Given the description of an element on the screen output the (x, y) to click on. 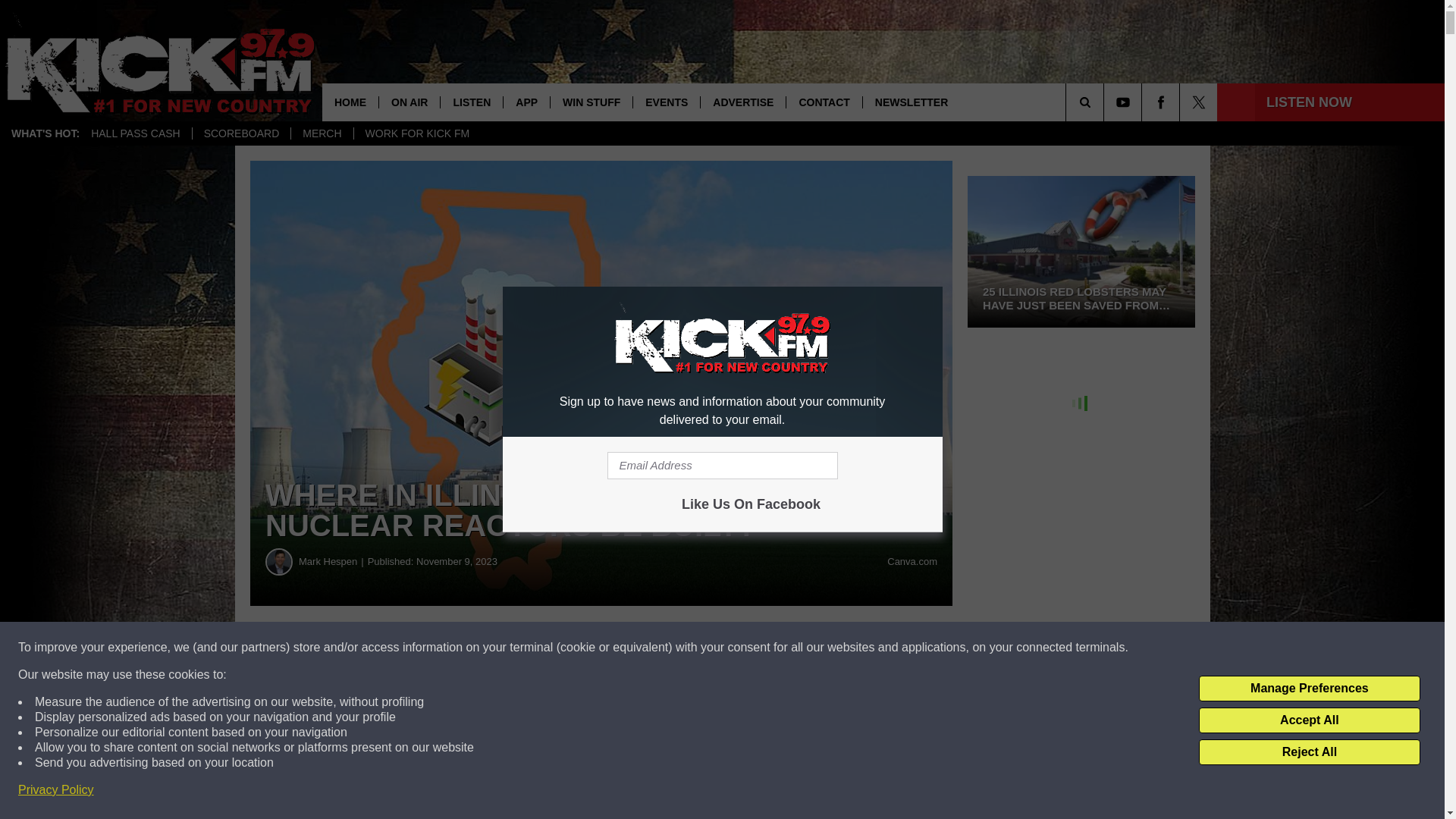
Privacy Policy (55, 789)
MERCH (320, 133)
SCOREBOARD (241, 133)
SEARCH (1106, 102)
HALL PASS CASH (136, 133)
Share on Facebook (460, 647)
HOME (349, 102)
Accept All (1309, 720)
LISTEN (470, 102)
Share on Twitter (741, 647)
WORK FOR KICK FM (417, 133)
SEARCH (1106, 102)
Manage Preferences (1309, 688)
ADVERTISE (743, 102)
EVENTS (665, 102)
